Given the description of an element on the screen output the (x, y) to click on. 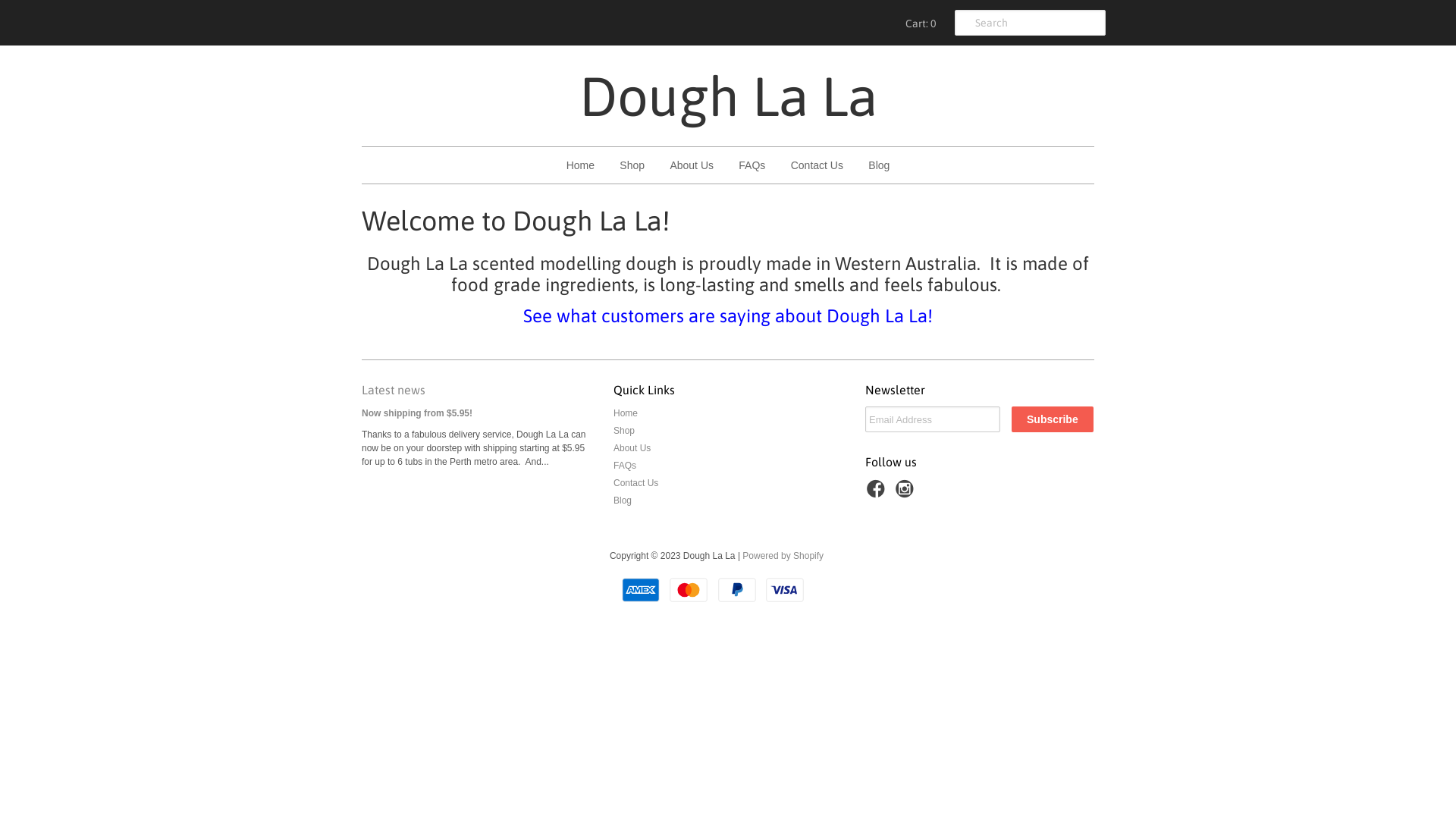
See what customers are saying about Dough La La! Element type: text (727, 315)
Contact Us Element type: text (816, 165)
Now shipping from $5.95! Element type: text (416, 412)
Shop Element type: text (623, 430)
Home Element type: text (580, 165)
Cart: 0 Element type: text (917, 23)
Home Element type: text (625, 412)
FAQs Element type: text (751, 165)
Blog Element type: text (878, 165)
Follow us on Facebook Element type: hover (877, 493)
Contact Us Element type: text (635, 482)
About Us Element type: text (691, 165)
FAQs Element type: text (624, 465)
Follow us on Instagram Element type: hover (906, 493)
About Us Element type: text (631, 447)
Powered by Shopify Element type: text (782, 555)
Shop Element type: text (631, 165)
Blog Element type: text (622, 500)
Dough La La Element type: text (727, 96)
Subscribe Element type: text (1052, 419)
Latest news Element type: text (393, 389)
